Given the description of an element on the screen output the (x, y) to click on. 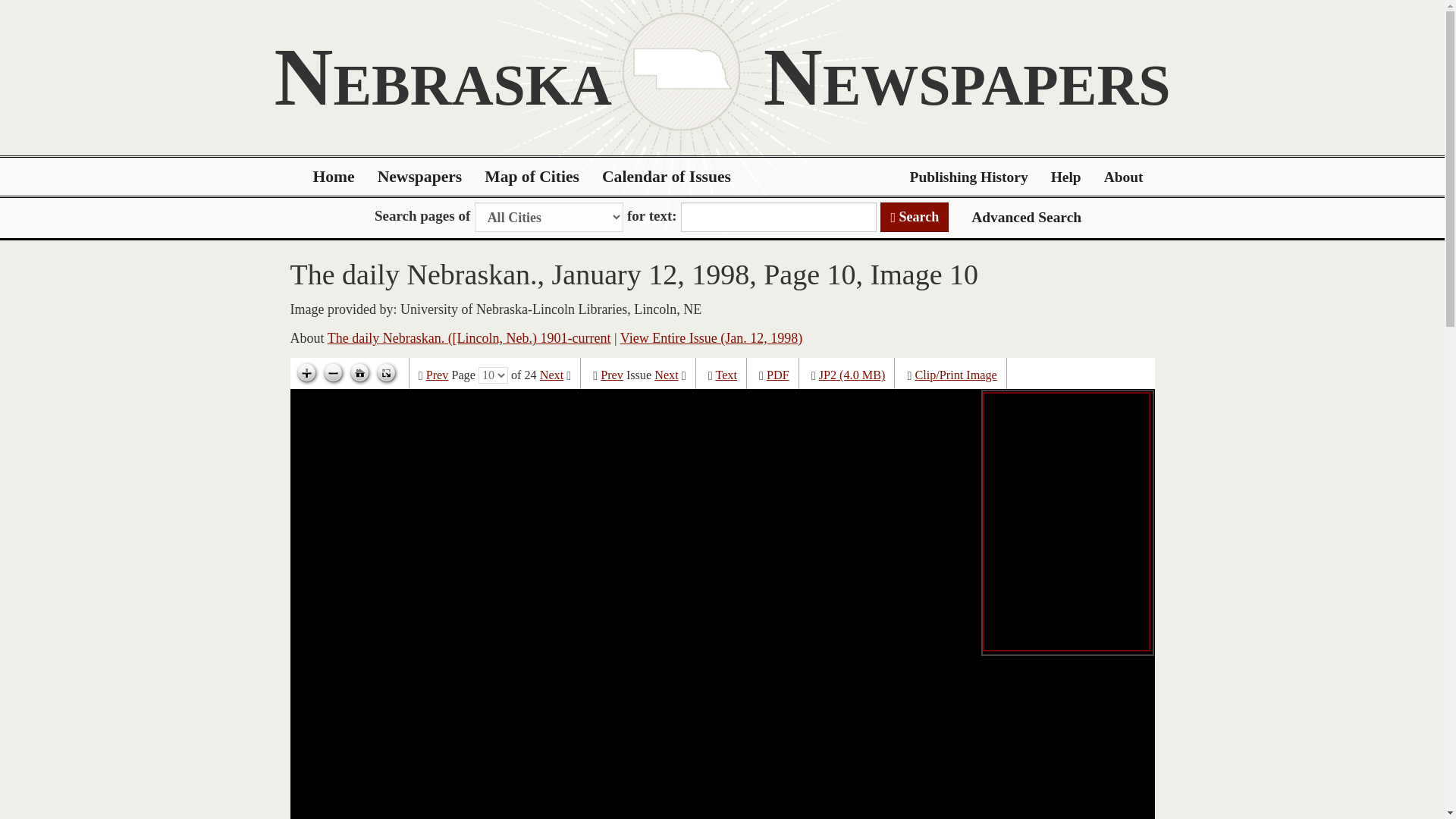
About (1123, 176)
Search (914, 217)
Publishing History (968, 176)
Go home (359, 373)
Newspapers (420, 176)
Prev (437, 375)
Help (1066, 176)
Next (551, 375)
Calendar of Issues (666, 176)
Toggle full page (385, 373)
Home (333, 176)
Text (725, 375)
Zoom in (307, 373)
Prev (611, 375)
PDF (778, 375)
